Given the description of an element on the screen output the (x, y) to click on. 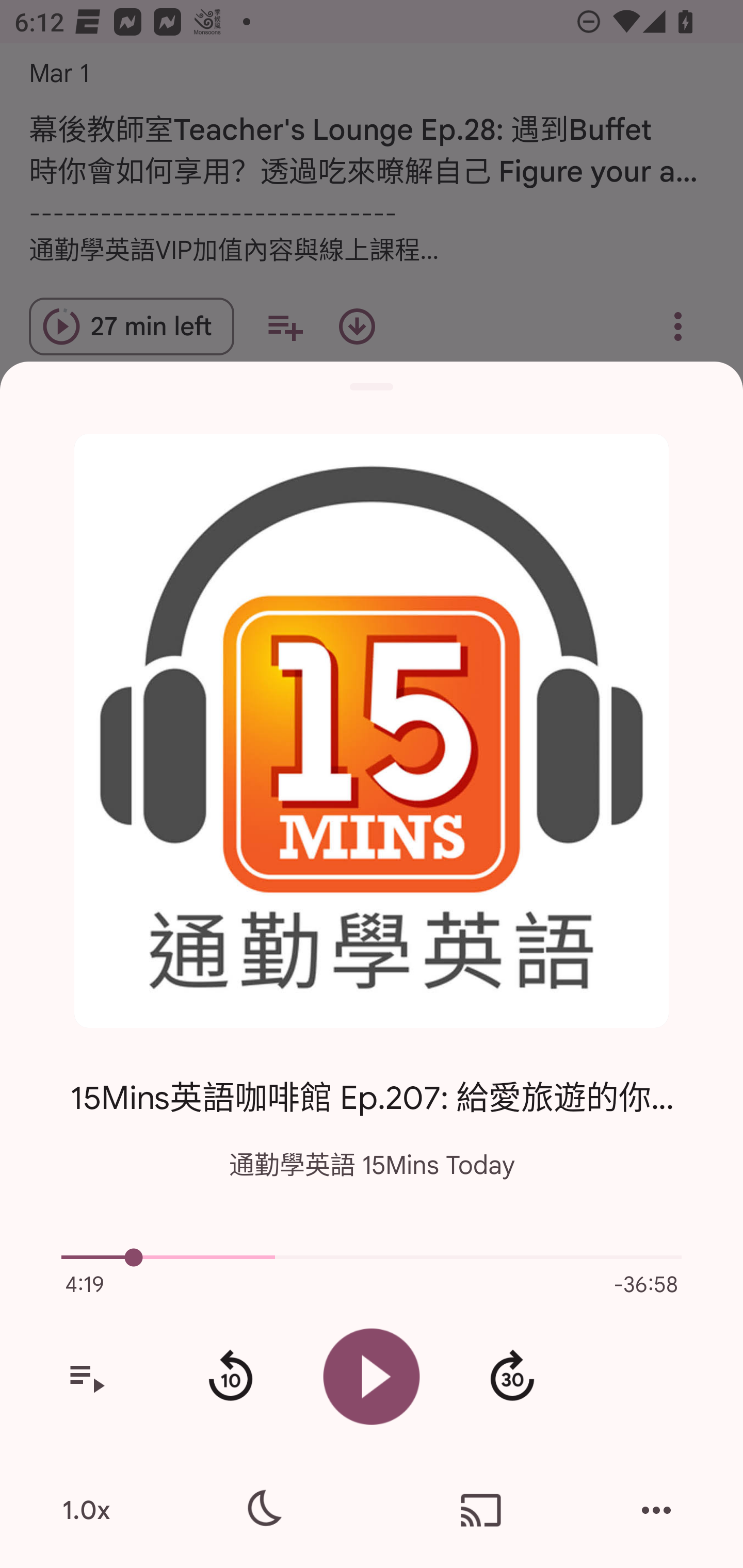
Open the show page for 通勤學英語 15Mins Today (371, 731)
1045.0 Current episode playback (371, 1257)
Play (371, 1376)
View your queue (86, 1376)
Rewind 10 seconds (230, 1376)
Fast forward 30 second (511, 1376)
1.0x Playback speed is 1.0. (86, 1510)
Sleep timer settings (261, 1510)
Cast. Disconnected (480, 1510)
More actions (655, 1510)
